Given the description of an element on the screen output the (x, y) to click on. 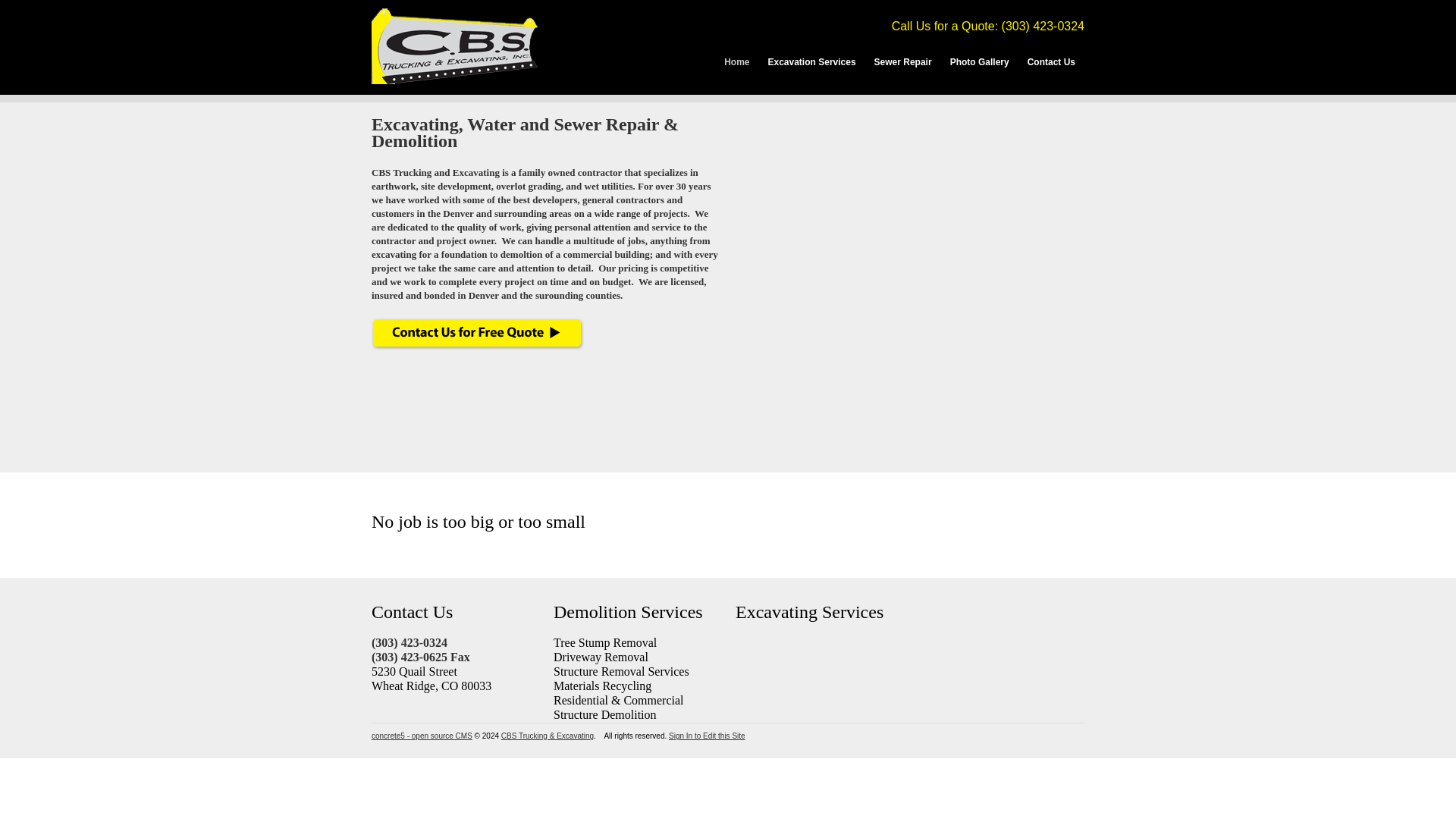
concrete5 - open source CMS (421, 736)
Excavation Services (811, 62)
Sewer Repair (902, 62)
Contact Us (477, 346)
Sign In to Edit this Site (706, 736)
Contact Us (1050, 62)
Home (736, 62)
Photo Gallery (978, 62)
